Given the description of an element on the screen output the (x, y) to click on. 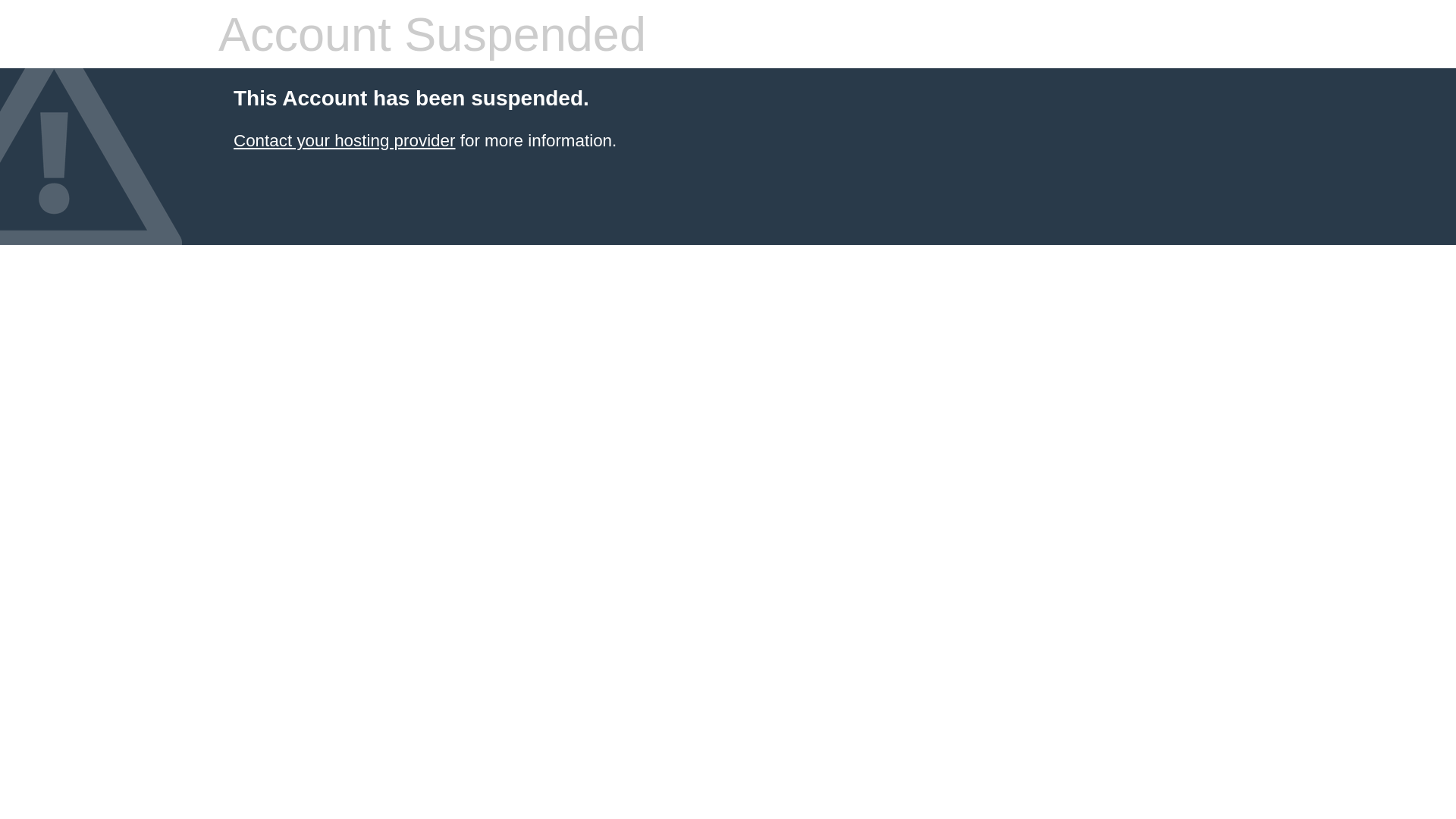
Contact your hosting provider Element type: text (344, 140)
